Given the description of an element on the screen output the (x, y) to click on. 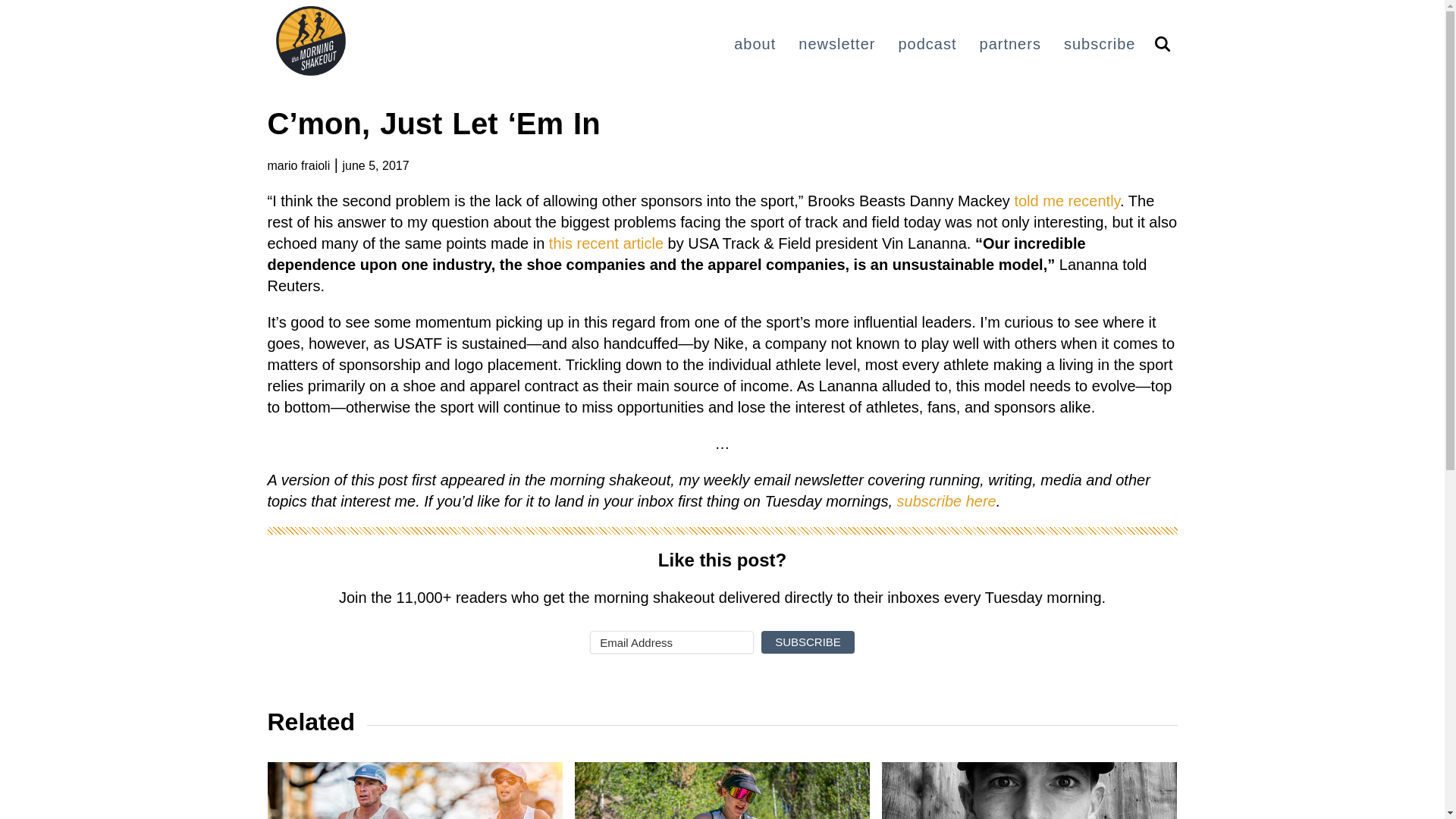
partners (1010, 43)
Going Long: An Interview with Lucie Hanes (722, 790)
subscribe here (945, 501)
42 Life Lessons For My 42nd Birthday (1029, 790)
podcast (927, 43)
this recent article (605, 243)
newsletter (836, 43)
told me recently (1066, 200)
SUBSCRIBE (807, 642)
site search navigation search site (1161, 44)
subscribe (1099, 43)
about (754, 43)
Search site (1161, 44)
site search navigation search site (1161, 43)
